Given the description of an element on the screen output the (x, y) to click on. 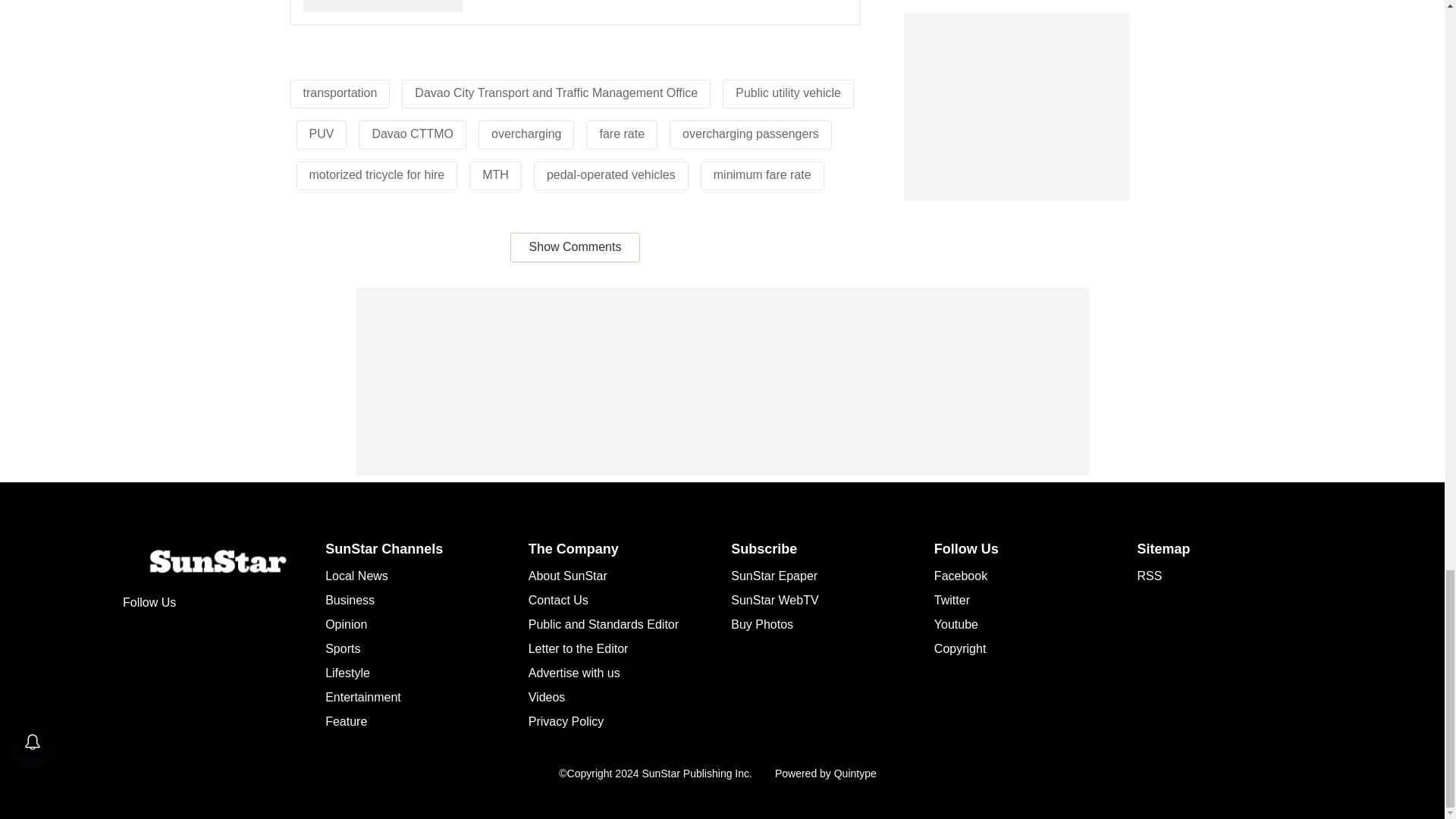
fare rate (621, 133)
Davao CTTMO (411, 133)
Public utility vehicle (788, 92)
Davao City Transport and Traffic Management Office (555, 92)
transportation (339, 92)
overcharging (527, 133)
overcharging passengers (750, 133)
Over 225-K drivers with unpaid fines (574, 12)
motorized tricycle for hire (376, 174)
PUV (321, 133)
